Given the description of an element on the screen output the (x, y) to click on. 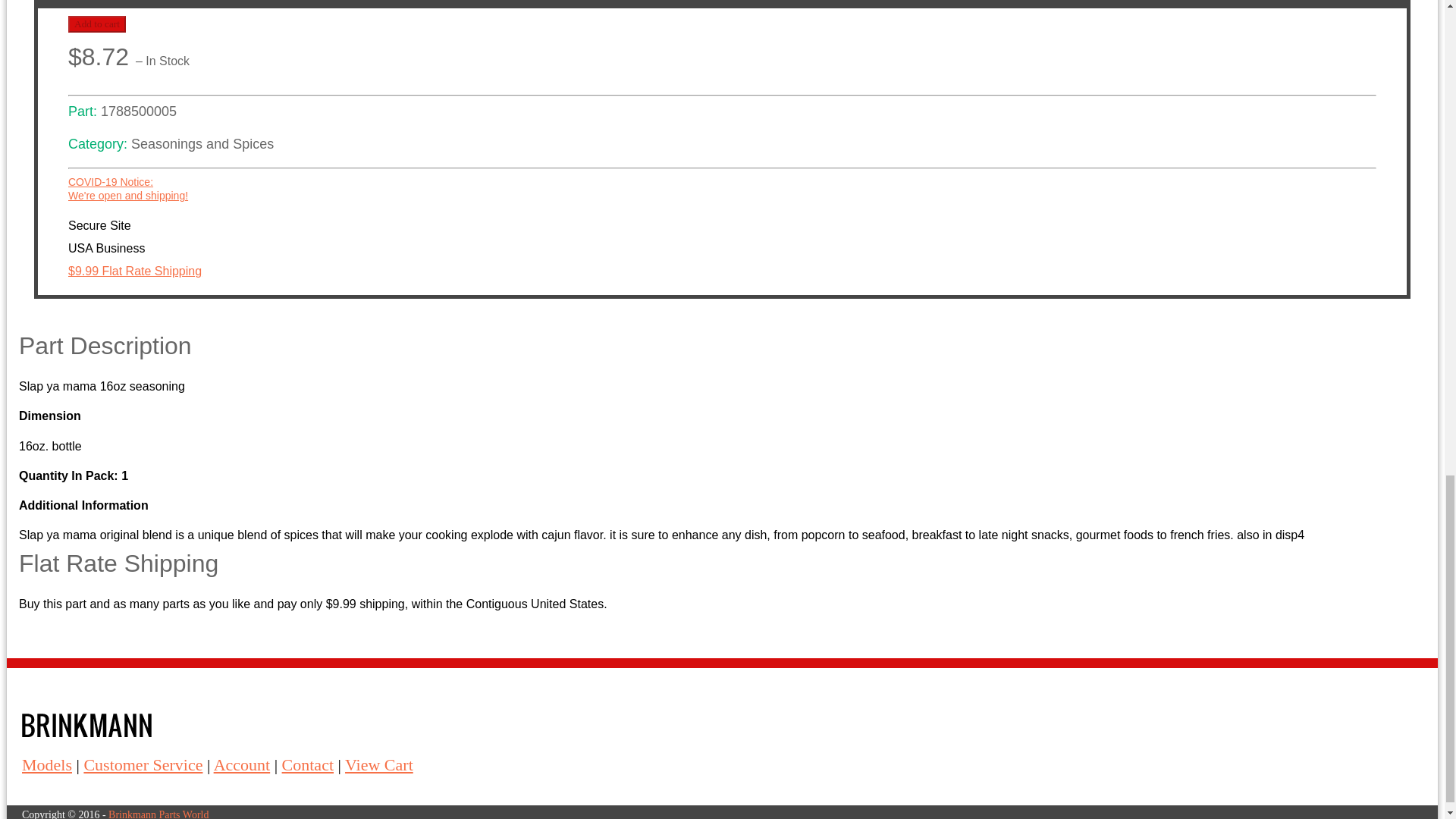
Models (46, 764)
Account (242, 764)
View Cart (127, 188)
Add to cart (379, 764)
Customer Service (96, 23)
Contact (142, 764)
